Given the description of an element on the screen output the (x, y) to click on. 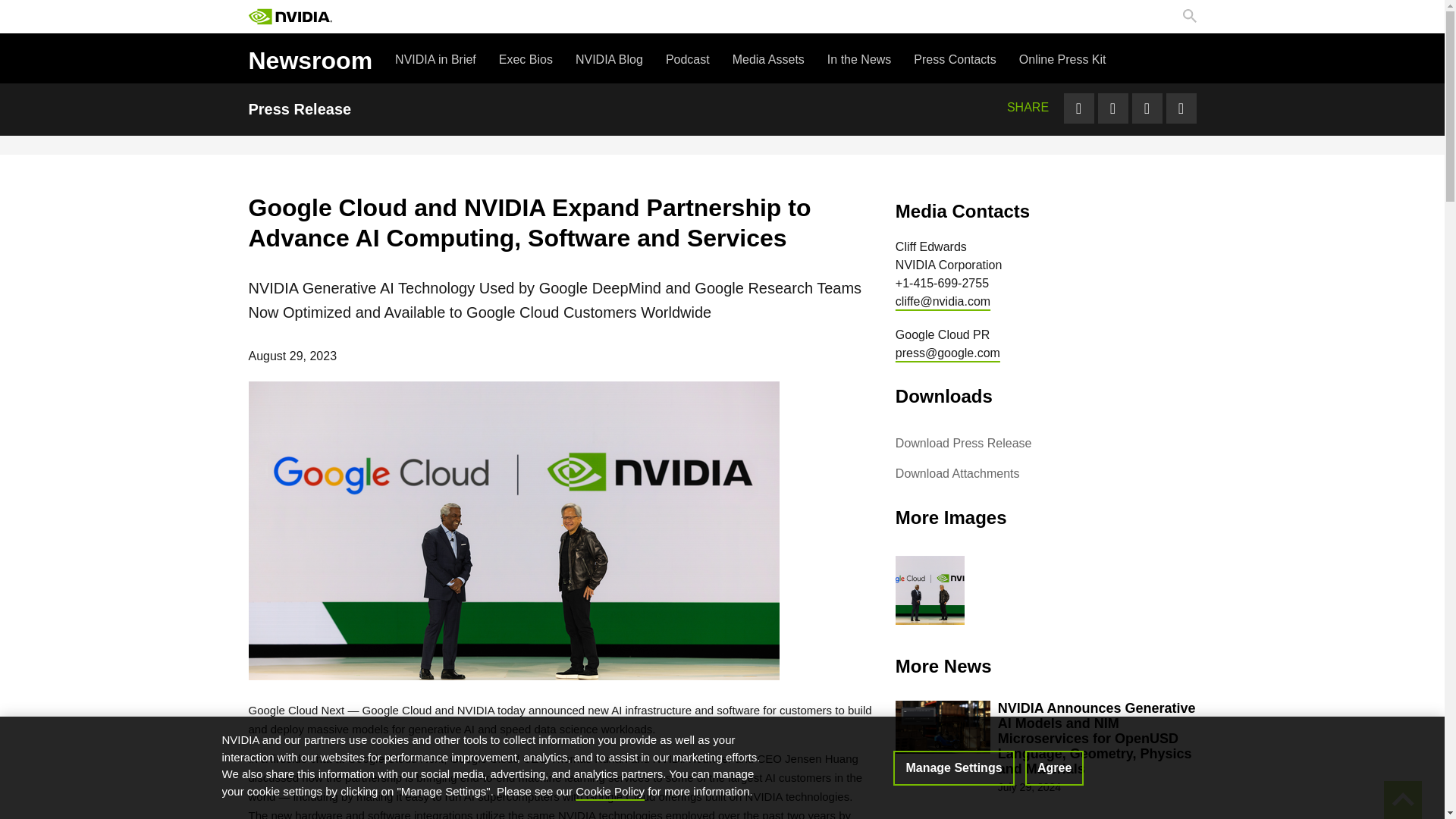
Artificial Intelligence Computing Leadership from NVIDIA (289, 16)
Newsroom (310, 58)
NVIDIA in Brief (435, 58)
Exec Bios (526, 58)
Press Contacts (954, 58)
In the News (859, 58)
Artificial Intelligence Computing Leadership from NVIDIA (289, 16)
Media Assets (768, 58)
Online Press Kit (1062, 58)
NVIDIA Blog (609, 58)
Podcast (687, 58)
